Given the description of an element on the screen output the (x, y) to click on. 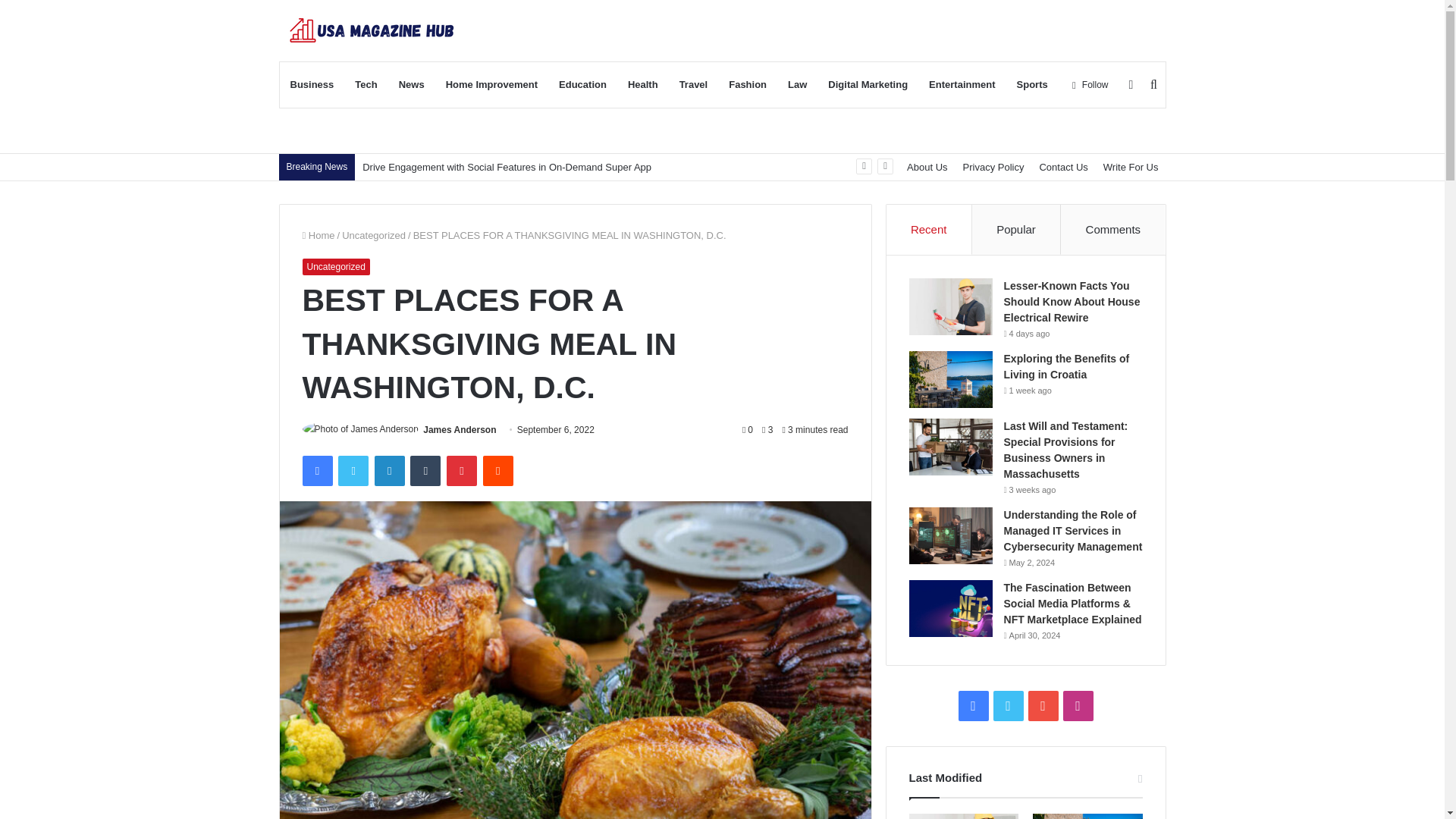
Home (317, 235)
Write For Us (1131, 166)
James Anderson (459, 429)
Entertainment (962, 84)
Fashion (747, 84)
Sports (1032, 84)
Health (642, 84)
Digital Marketing (867, 84)
Twitter (352, 470)
Twitter (352, 470)
Education (582, 84)
News (411, 84)
Contact Us (1062, 166)
Business (311, 84)
About Us (927, 166)
